Given the description of an element on the screen output the (x, y) to click on. 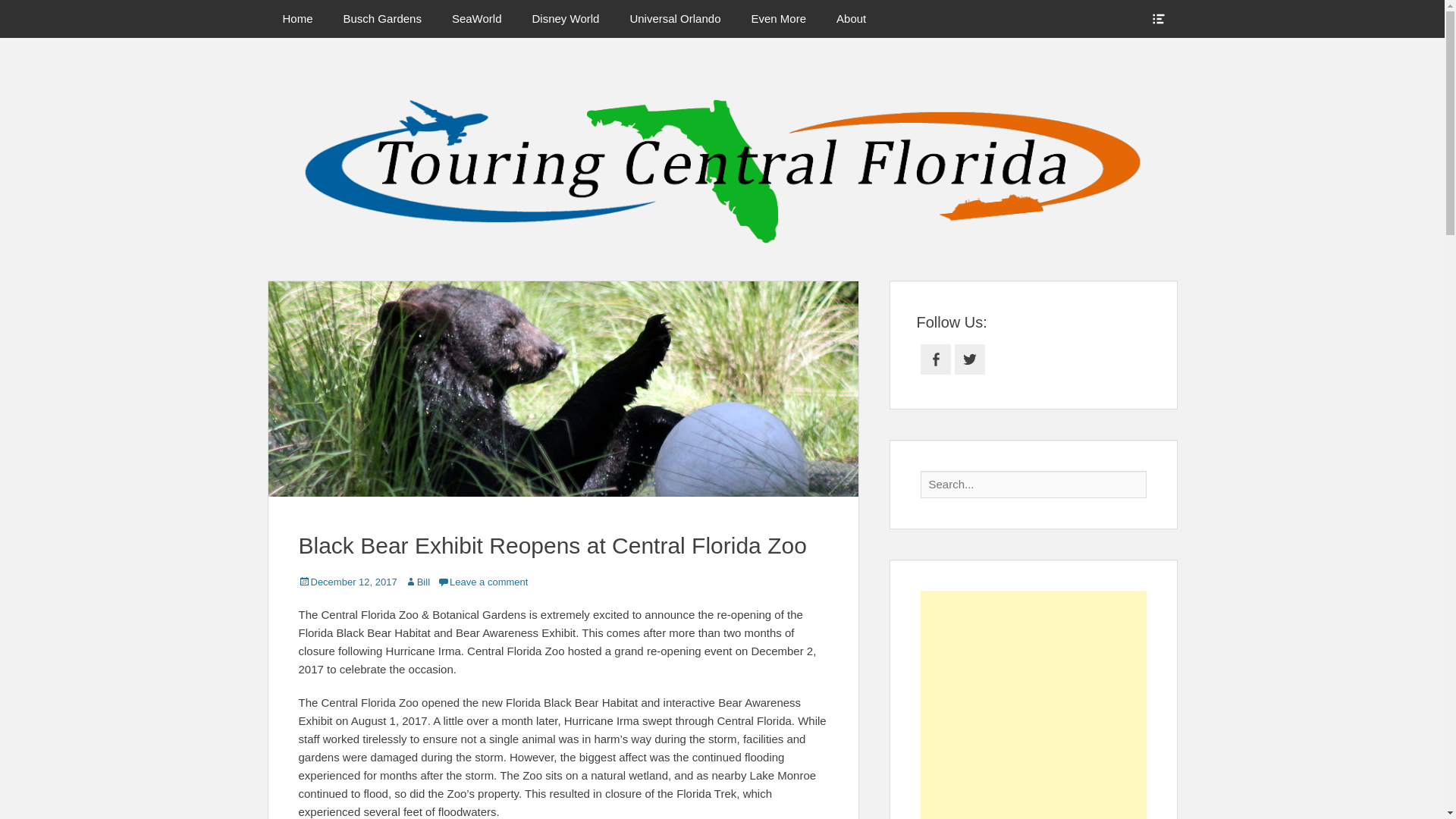
About (850, 18)
Even More (778, 18)
Bill (416, 582)
Busch Gardens (382, 18)
December 12, 2017 (347, 582)
Universal Orlando (674, 18)
Show Header Sidebar Content (1157, 18)
Home (296, 18)
Touring Central Florida (888, 85)
Leave a comment (482, 582)
